Given the description of an element on the screen output the (x, y) to click on. 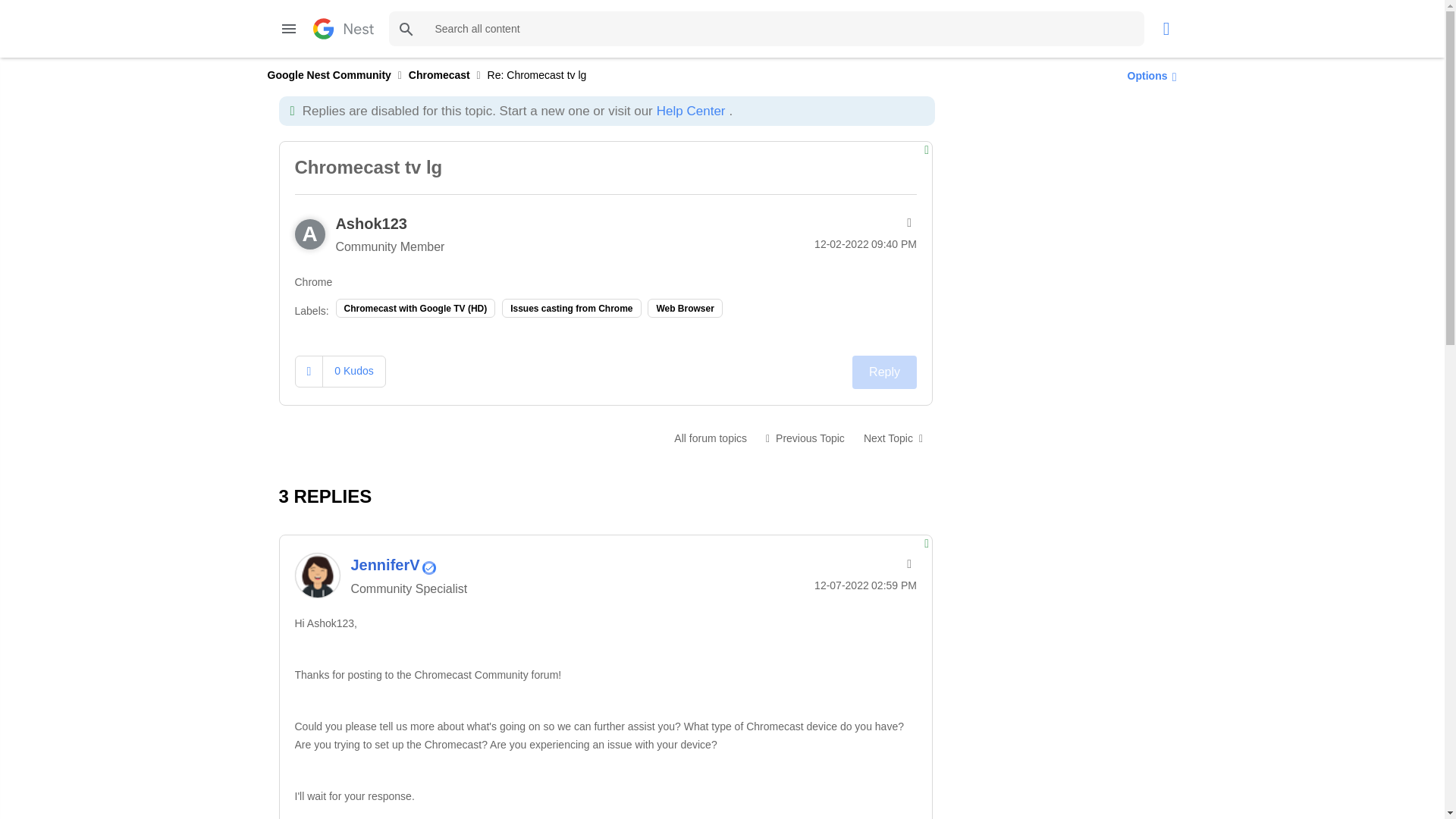
Ashok123 (370, 223)
Google Nest Community (328, 74)
Click here to give kudos to this post. (309, 370)
Chromecast (710, 438)
Search (765, 28)
Show option menu (1147, 75)
Menu (287, 28)
How to update. (893, 438)
Chromecast (439, 74)
Community Specialist (428, 567)
